Given the description of an element on the screen output the (x, y) to click on. 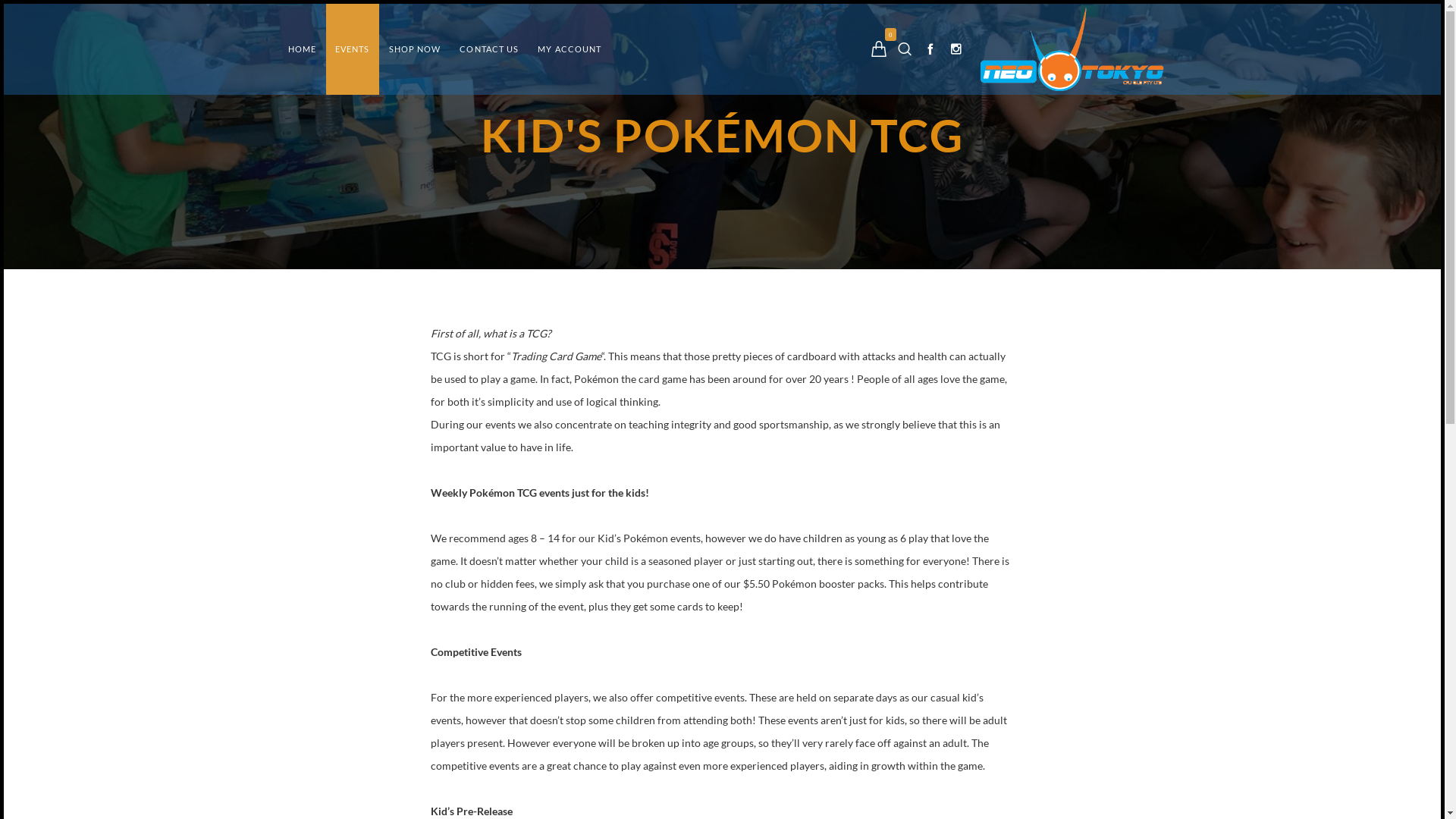
HOME Element type: text (302, 48)
Neo-Tokyo Element type: hover (1072, 48)
MY ACCOUNT Element type: text (569, 48)
CONTACT US Element type: text (488, 48)
EVENTS Element type: text (352, 48)
0 Element type: text (878, 48)
SHOP NOW Element type: text (414, 48)
